Given the description of an element on the screen output the (x, y) to click on. 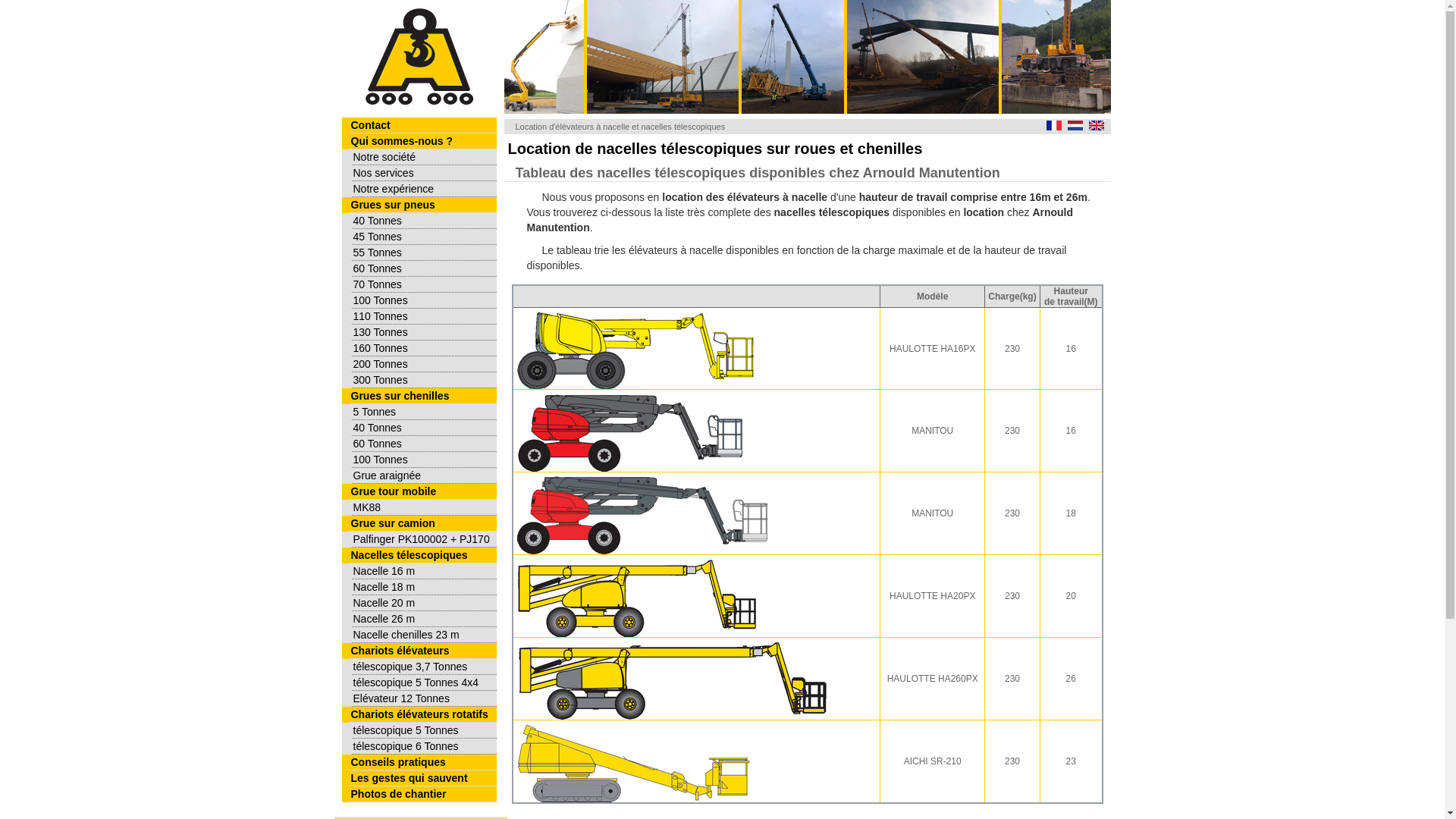
Grue sur camion Element type: text (421, 523)
MK88 Element type: text (423, 507)
45 Tonnes Element type: text (423, 236)
300 Tonnes Element type: text (423, 380)
55 Tonnes Element type: text (423, 252)
60 Tonnes Element type: text (423, 268)
Bezoek onze website in het nederlands Element type: hover (1074, 125)
Photos de chantier Element type: text (421, 794)
Nacelle 18 m Element type: text (423, 587)
Visit our website in english Element type: hover (1096, 125)
Qui sommes-nous ? Element type: text (421, 141)
Grue tour mobile Element type: text (421, 491)
Grues sur pneus Element type: text (421, 205)
40 Tonnes Element type: text (423, 221)
100 Tonnes Element type: text (423, 300)
100 Tonnes Element type: text (423, 459)
200 Tonnes Element type: text (423, 364)
Palfinger PK100002 + PJ170 Element type: text (423, 539)
110 Tonnes Element type: text (423, 316)
Nacelle 16 m Element type: text (423, 571)
70 Tonnes Element type: text (423, 284)
5 Tonnes Element type: text (423, 412)
40 Tonnes Element type: text (423, 428)
Contact Element type: text (421, 125)
160 Tonnes Element type: text (423, 348)
Nacelle 20 m Element type: text (423, 603)
60 Tonnes Element type: text (423, 443)
Nos services Element type: text (423, 173)
Nacelle 26 m Element type: text (423, 619)
Grues sur chenilles Element type: text (421, 396)
Conseils pratiques Element type: text (421, 762)
Les gestes qui sauvent Element type: text (421, 778)
Nacelle chenilles 23 m Element type: text (423, 635)
130 Tonnes Element type: text (423, 332)
